Given the description of an element on the screen output the (x, y) to click on. 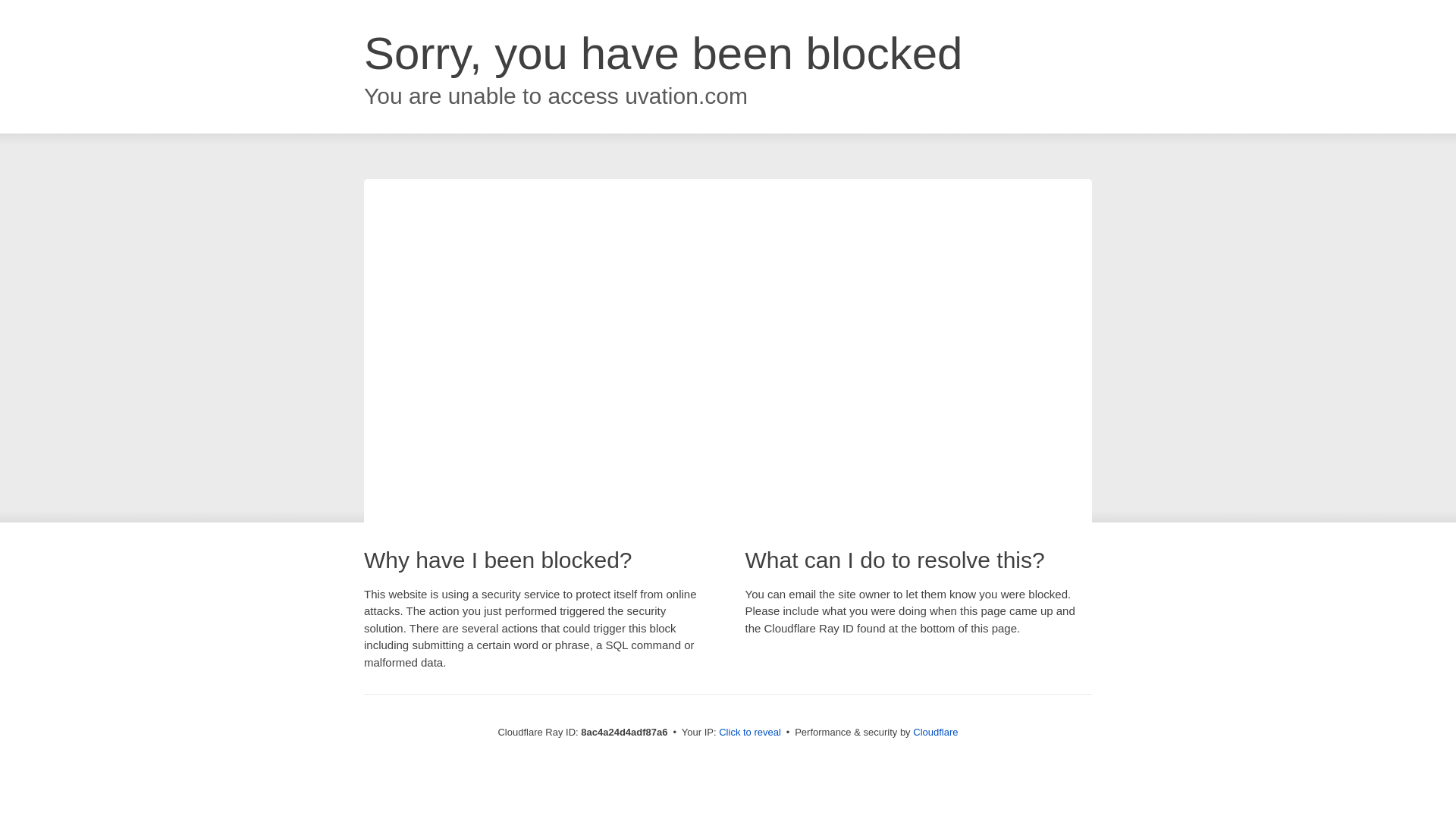
Cloudflare (935, 731)
Click to reveal (749, 732)
